Given the description of an element on the screen output the (x, y) to click on. 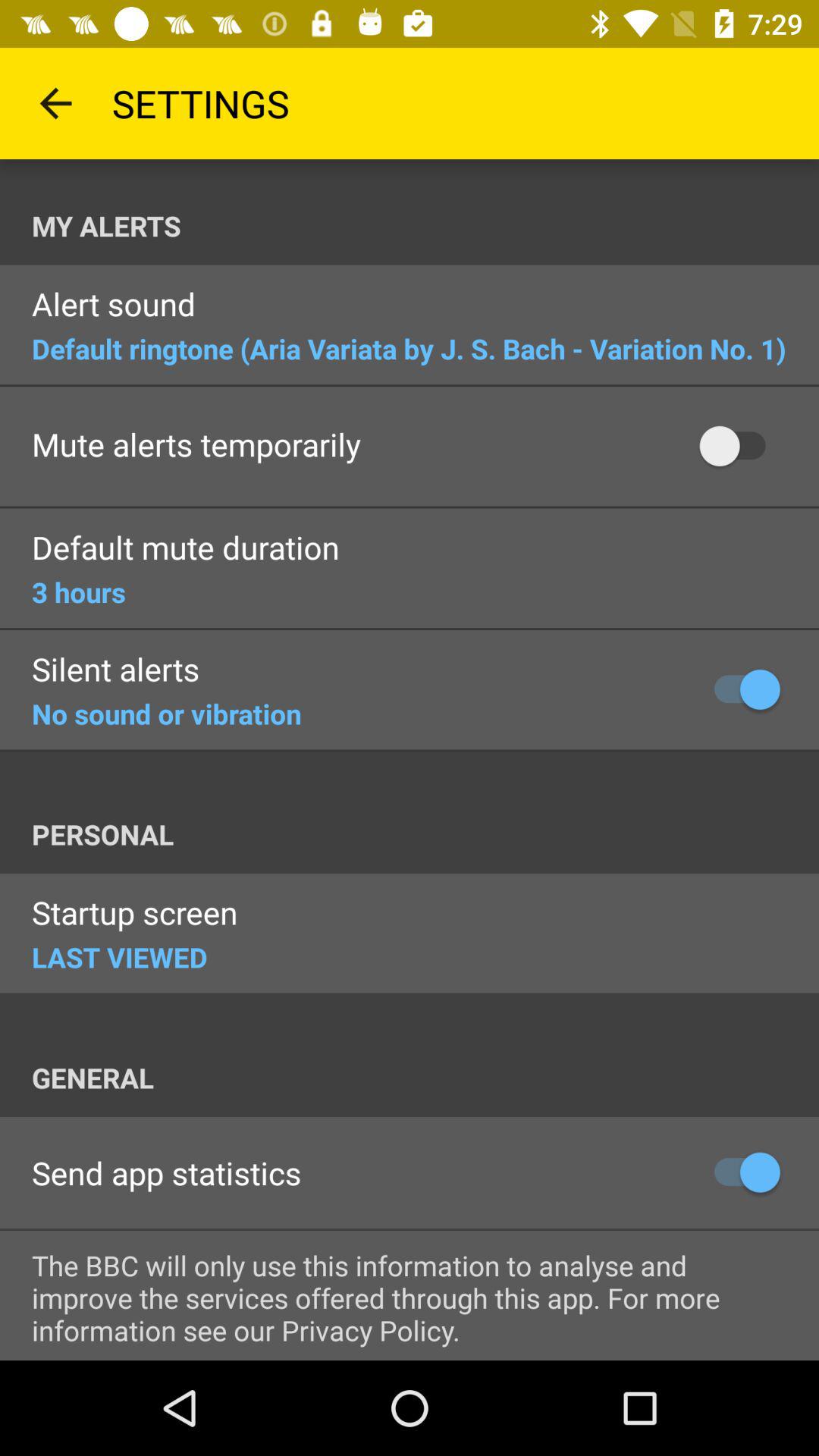
flip to no sound or item (166, 713)
